Given the description of an element on the screen output the (x, y) to click on. 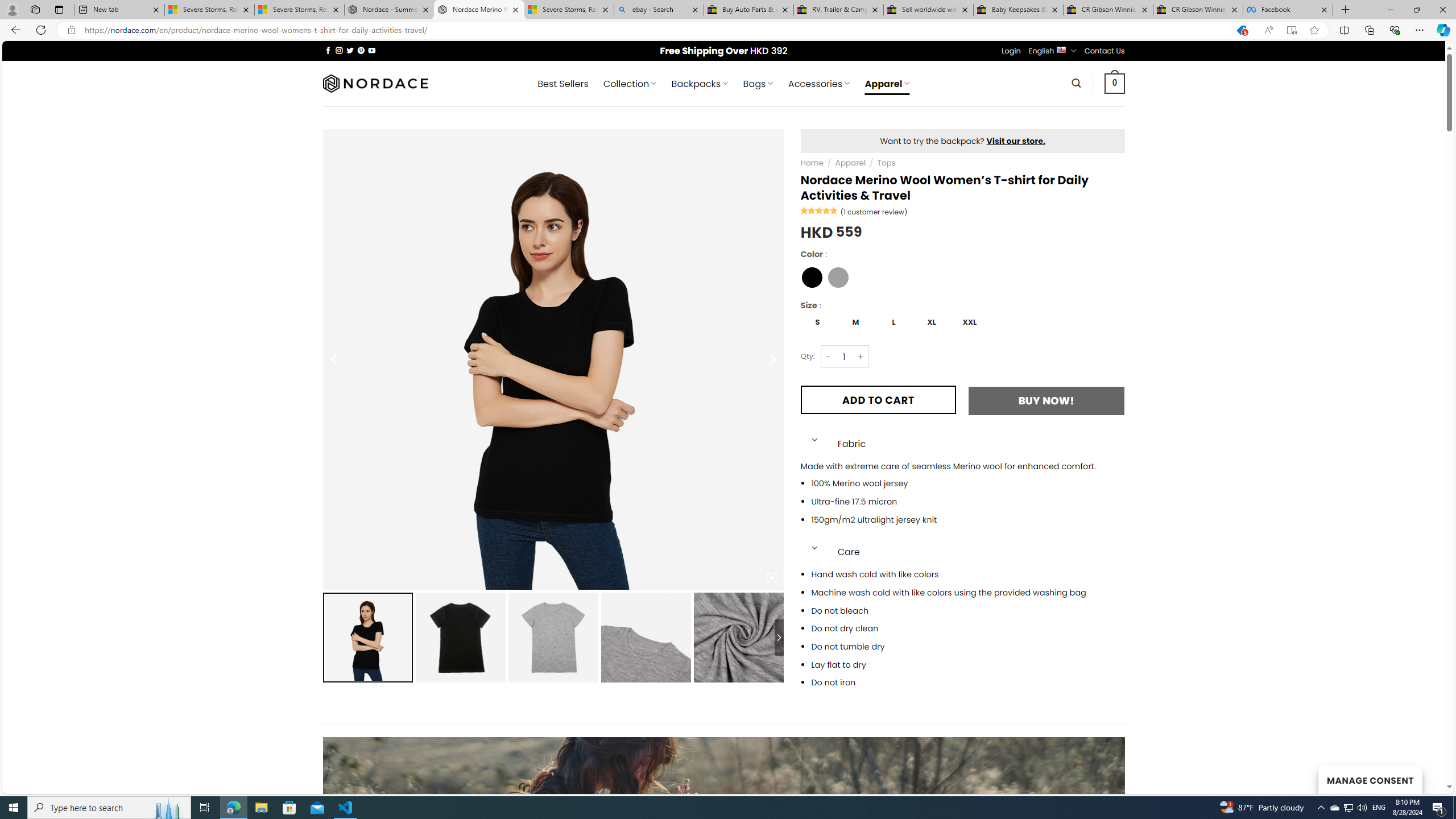
Visit our store. (1015, 140)
This site has coupons! Shopping in Microsoft Edge, 5 (1241, 29)
100% Merino wool jersey (967, 483)
